Given the description of an element on the screen output the (x, y) to click on. 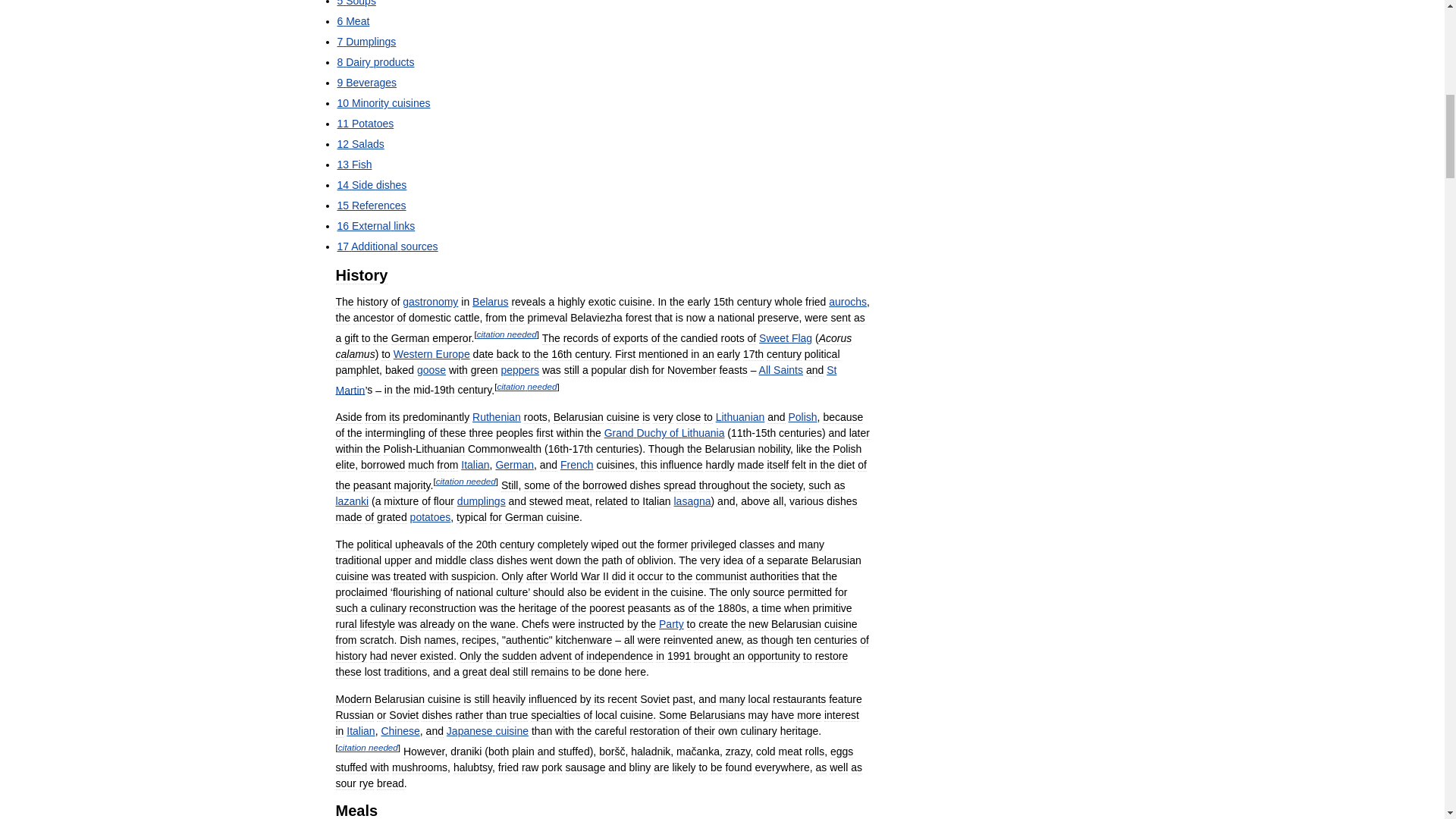
15 References (371, 205)
14 Side dishes (371, 184)
9 Beverages (366, 82)
6 Meat (352, 21)
7 Dumplings (366, 41)
5 Soups (355, 3)
8 Dairy products (374, 61)
11 Potatoes (364, 123)
13 Fish (353, 164)
10 Minority cuisines (382, 102)
12 Salads (360, 143)
